Given the description of an element on the screen output the (x, y) to click on. 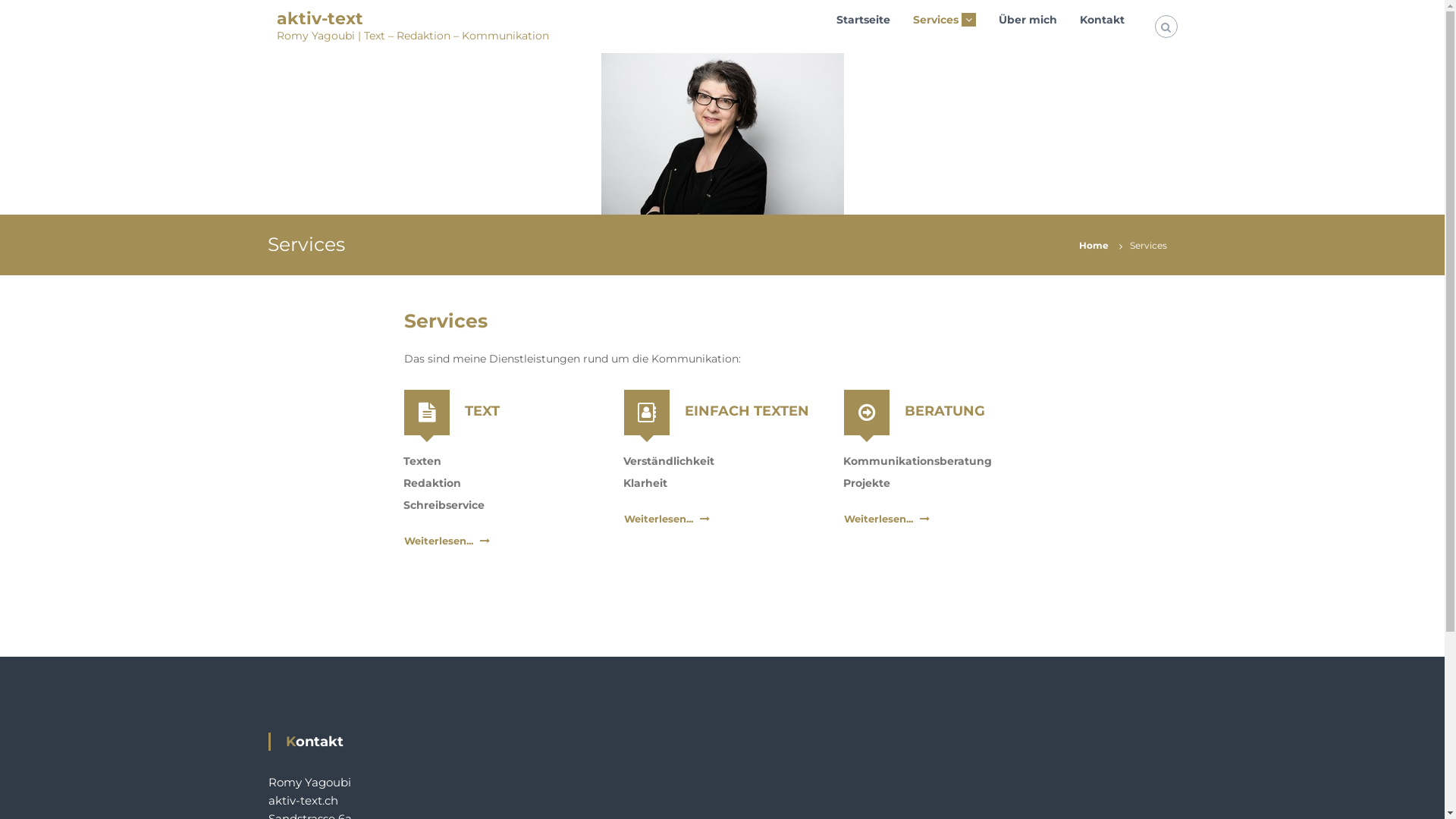
Weiterlesen... Element type: text (657, 518)
Weiterlesen... Element type: text (877, 518)
Home Element type: text (1092, 244)
TEXT Element type: text (481, 409)
Kontakt Element type: text (1101, 18)
Weiterlesen... Element type: text (437, 541)
EINFACH TEXTEN Element type: text (746, 409)
Services Element type: text (935, 18)
Startseite Element type: text (862, 18)
aktiv-text Element type: text (319, 17)
BERATUNG Element type: text (943, 409)
